Given the description of an element on the screen output the (x, y) to click on. 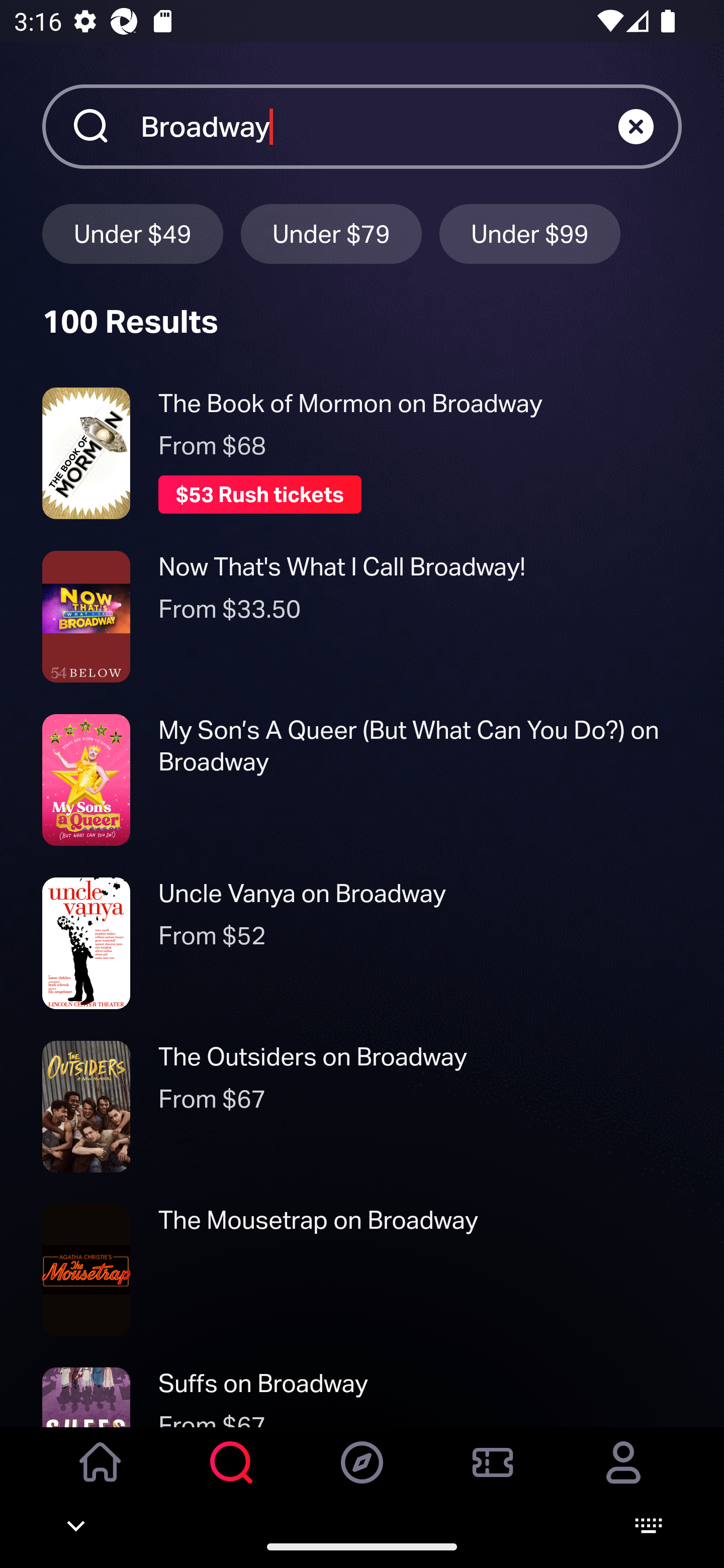
Broadway (379, 126)
Under $49 (131, 233)
Under $79 (331, 233)
Under $99 (529, 233)
Home (100, 1475)
Discover (361, 1475)
Orders (492, 1475)
Account (623, 1475)
